Given the description of an element on the screen output the (x, y) to click on. 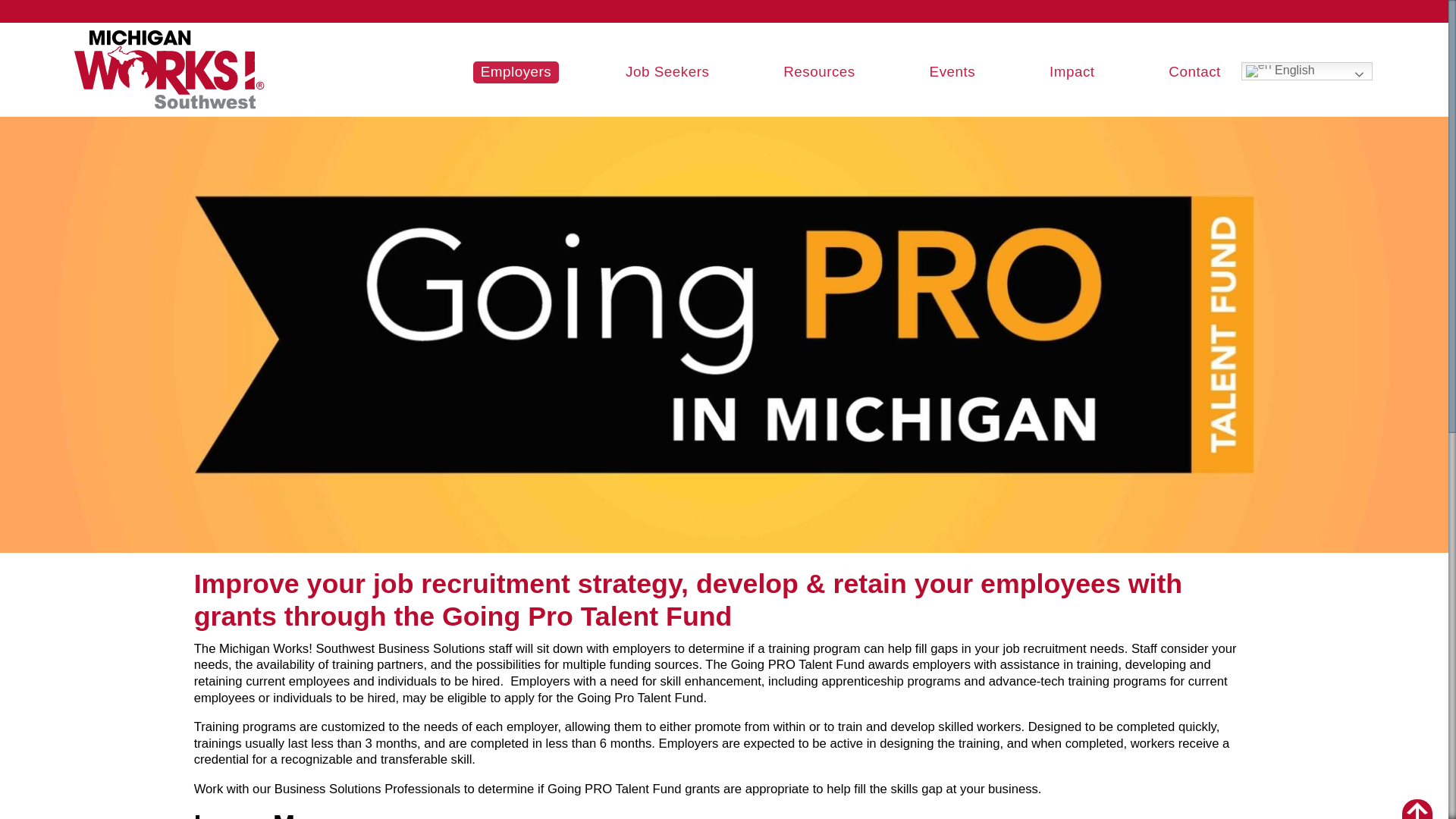
Job Seekers (666, 72)
Employers (516, 72)
English (1307, 71)
Contact (1194, 72)
default-logo-min (169, 69)
Resources (819, 72)
Events (952, 72)
Impact (1072, 72)
